Given the description of an element on the screen output the (x, y) to click on. 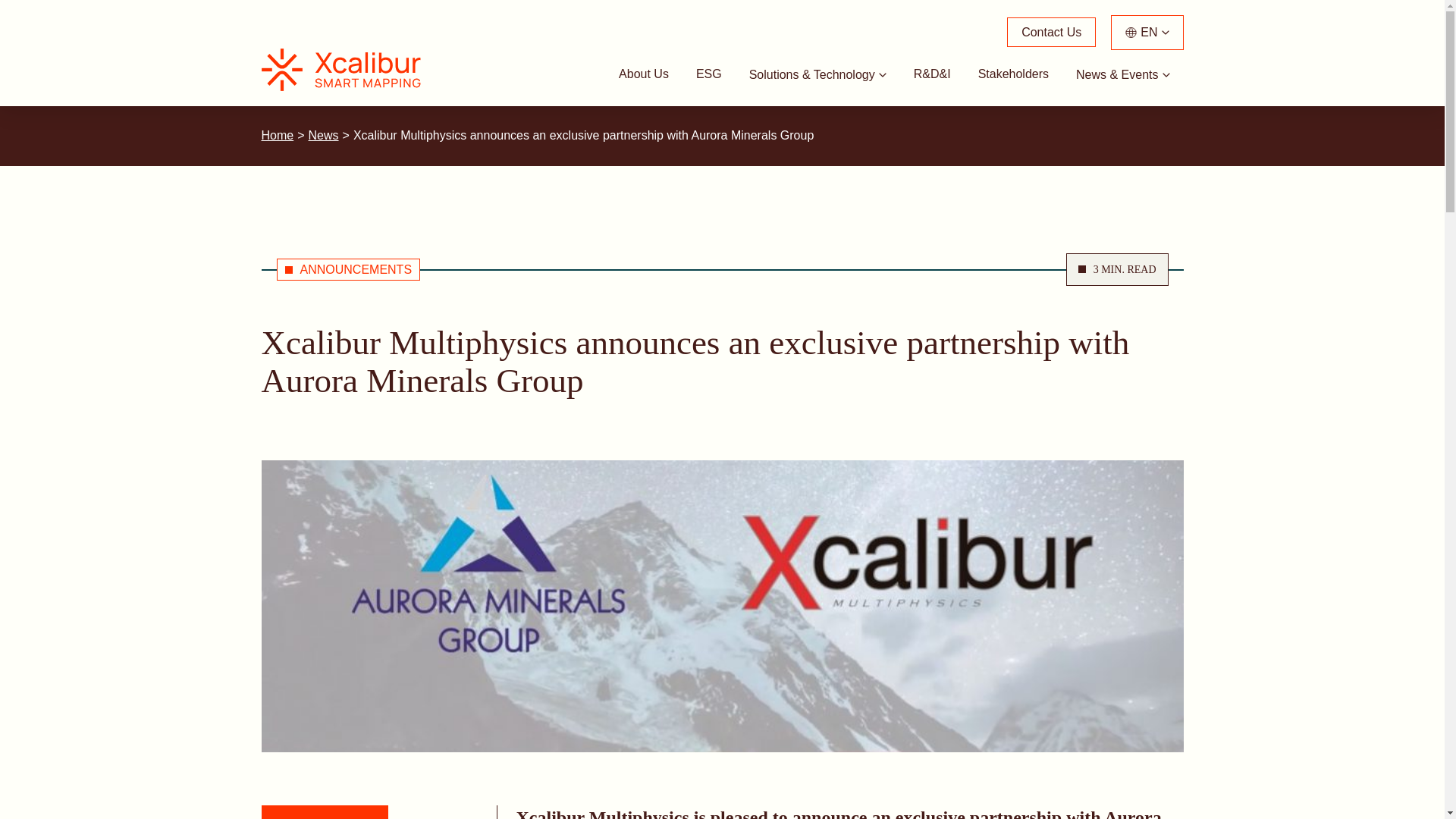
Xcalibur Smart Mapping (347, 69)
EN (1146, 32)
ANNOUNCEMENTS (348, 269)
SHARE (323, 812)
English (1146, 32)
ESG (708, 74)
Contact Us (1051, 31)
Home (277, 134)
Stakeholders (1012, 74)
About Us (643, 74)
About Us (643, 74)
Xcalibur Smart Mapping (347, 69)
Stakeholders (1012, 74)
News (323, 134)
ESG (708, 74)
